Given the description of an element on the screen output the (x, y) to click on. 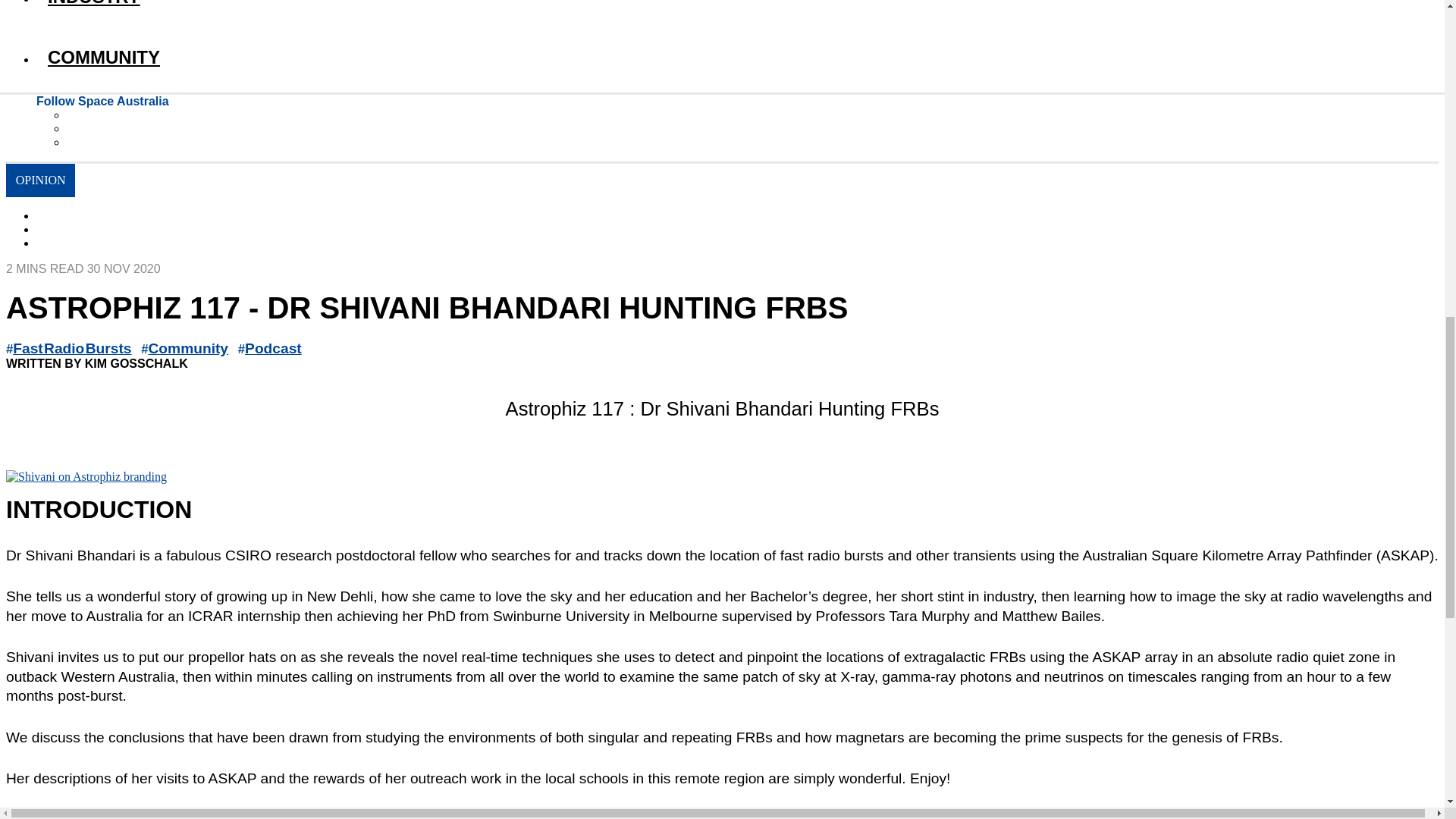
COMMUNITY (737, 57)
Fast Radio Bursts (72, 348)
INDUSTRY (737, 11)
Podcast (272, 348)
Community (188, 348)
